Given the description of an element on the screen output the (x, y) to click on. 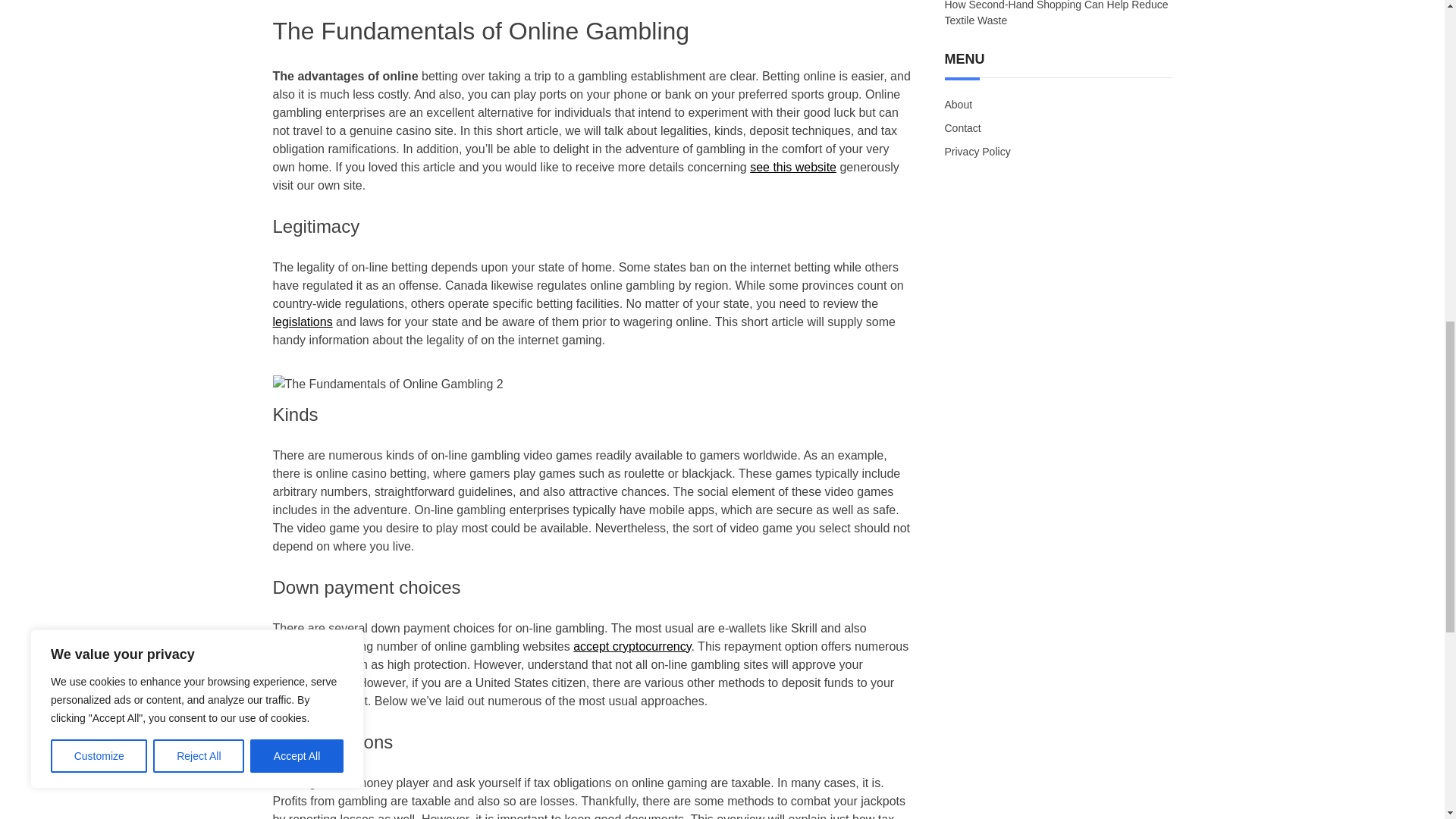
legislations (303, 321)
see this website (792, 166)
accept cryptocurrency (631, 645)
